Given the description of an element on the screen output the (x, y) to click on. 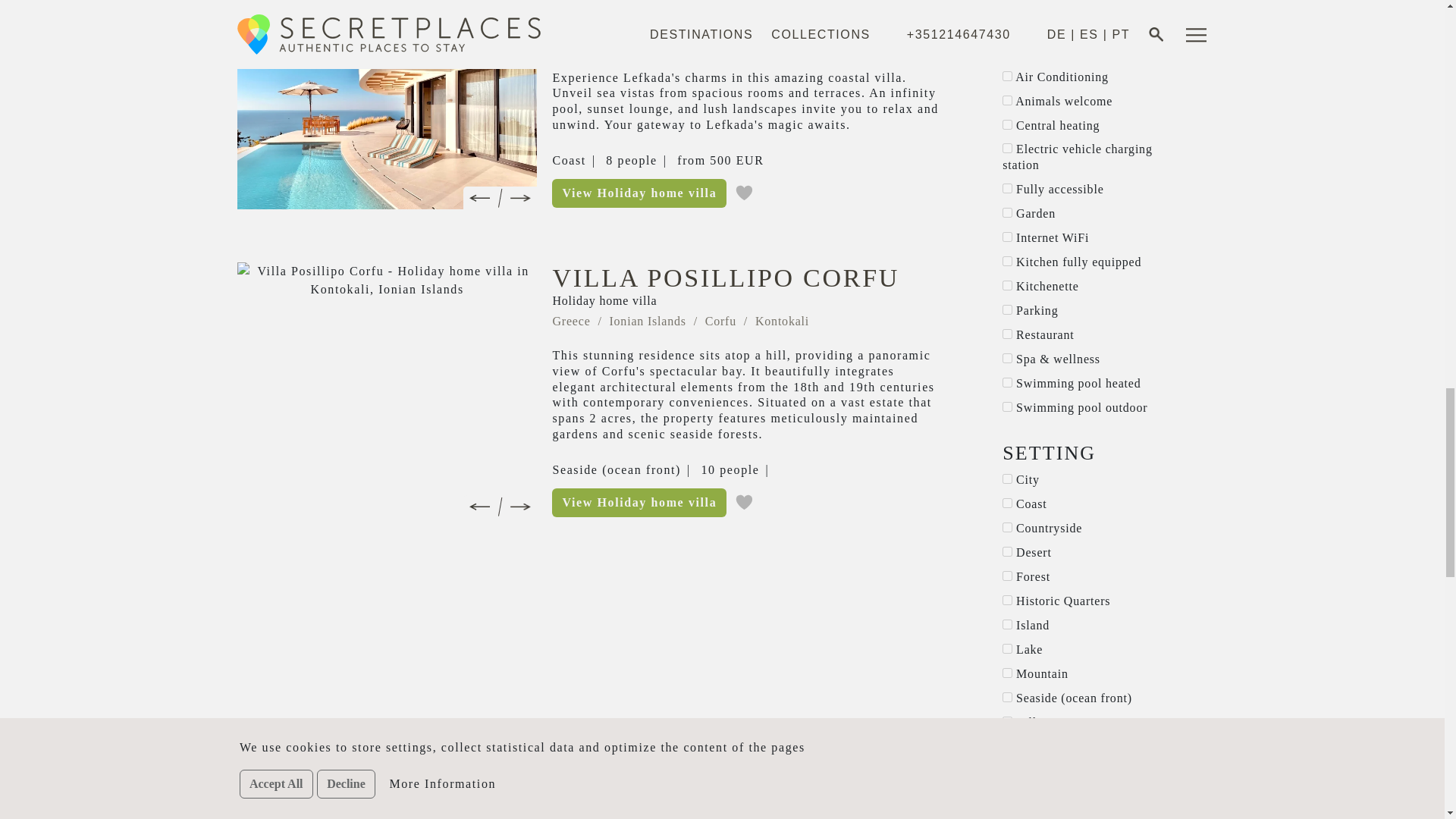
29 (1007, 4)
44 (1007, 236)
19 (1007, 124)
2 (1007, 100)
57 (1007, 148)
52 (1007, 76)
18 (1007, 212)
31 (1007, 188)
